Given the description of an element on the screen output the (x, y) to click on. 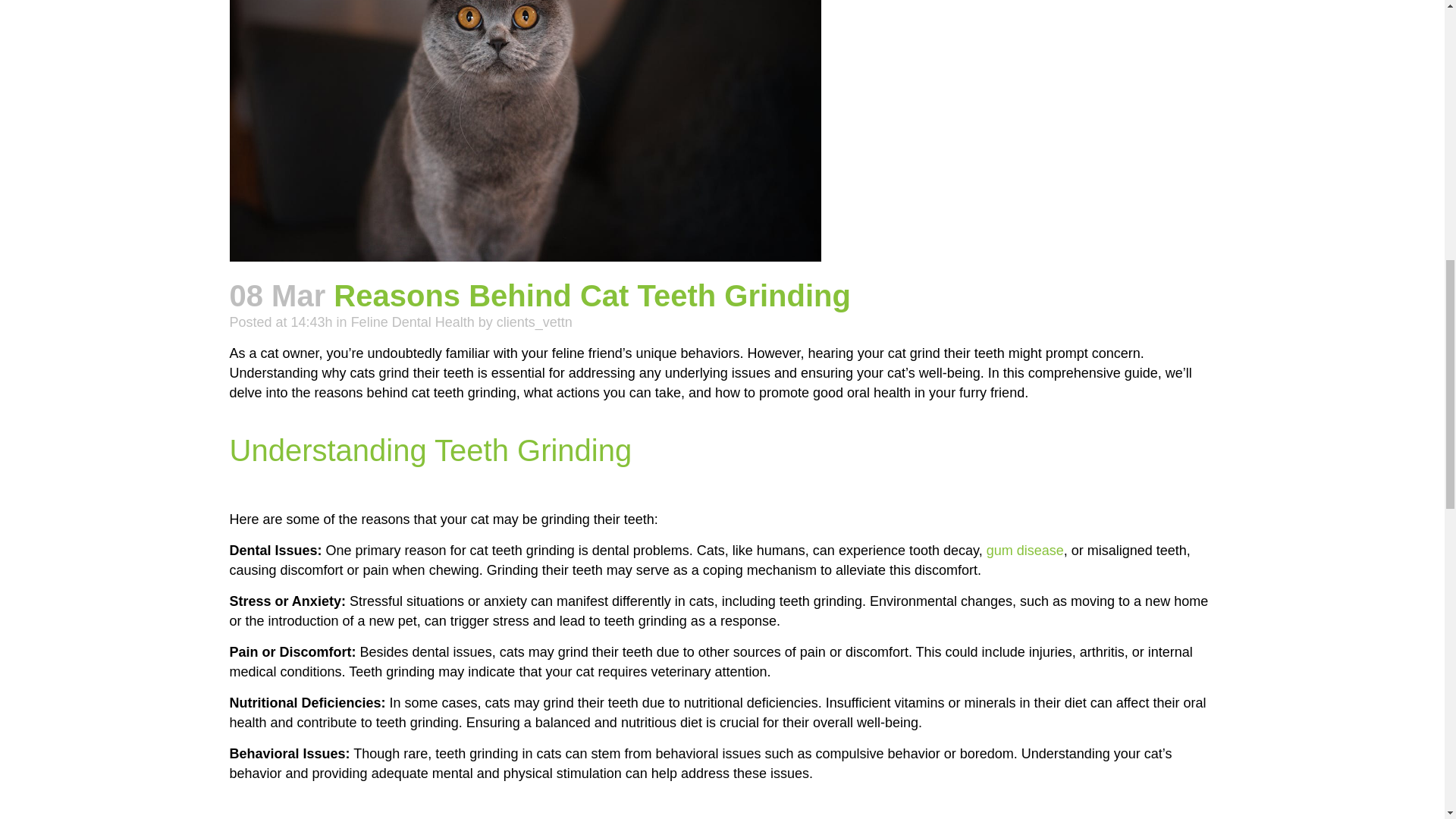
gum disease (1025, 549)
Feline Dental Health (412, 322)
